Given the description of an element on the screen output the (x, y) to click on. 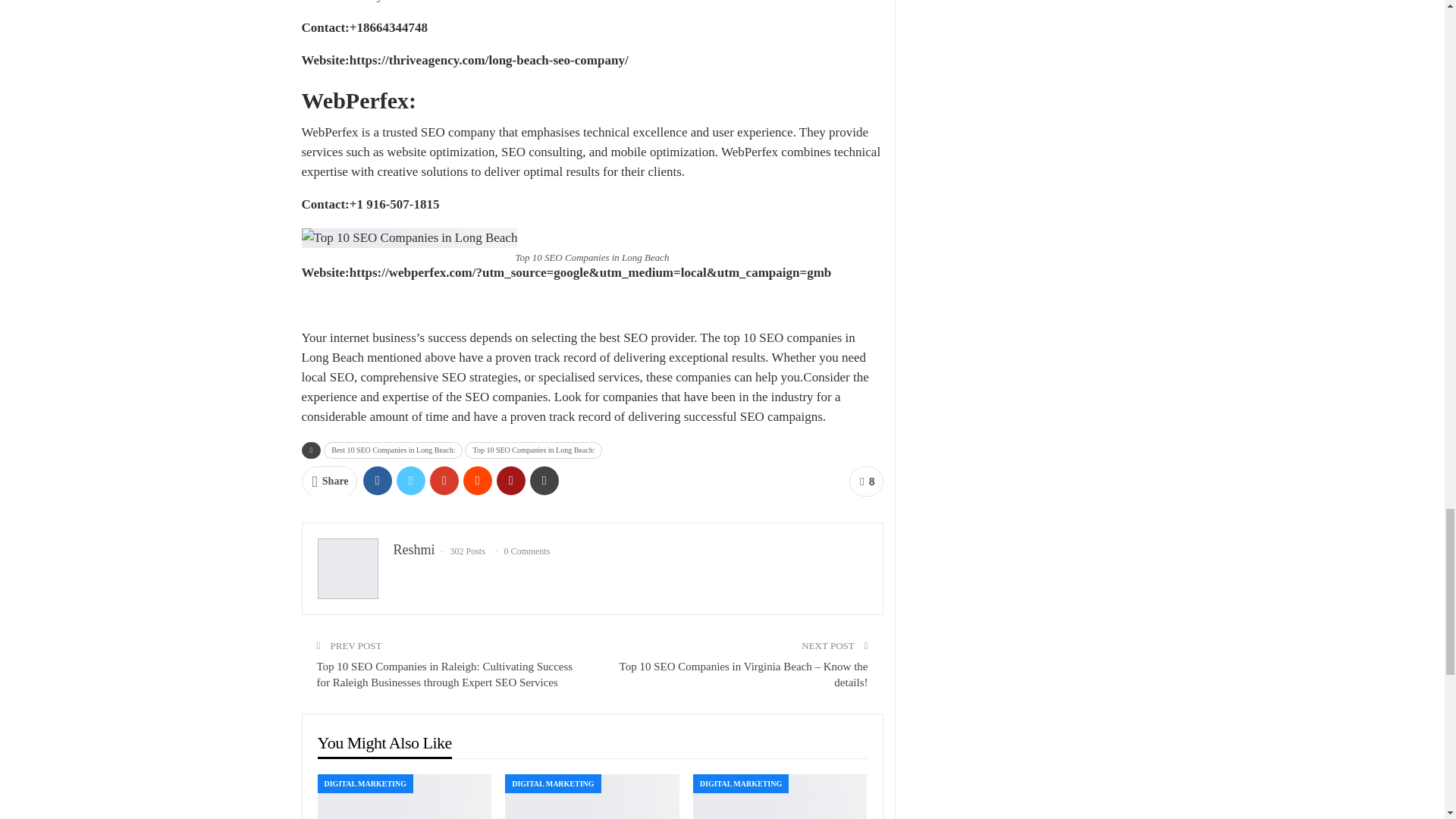
Google TV Vs Roku TV (780, 796)
The Boy and the Heron by Hayao Miyazaki (592, 796)
